Given the description of an element on the screen output the (x, y) to click on. 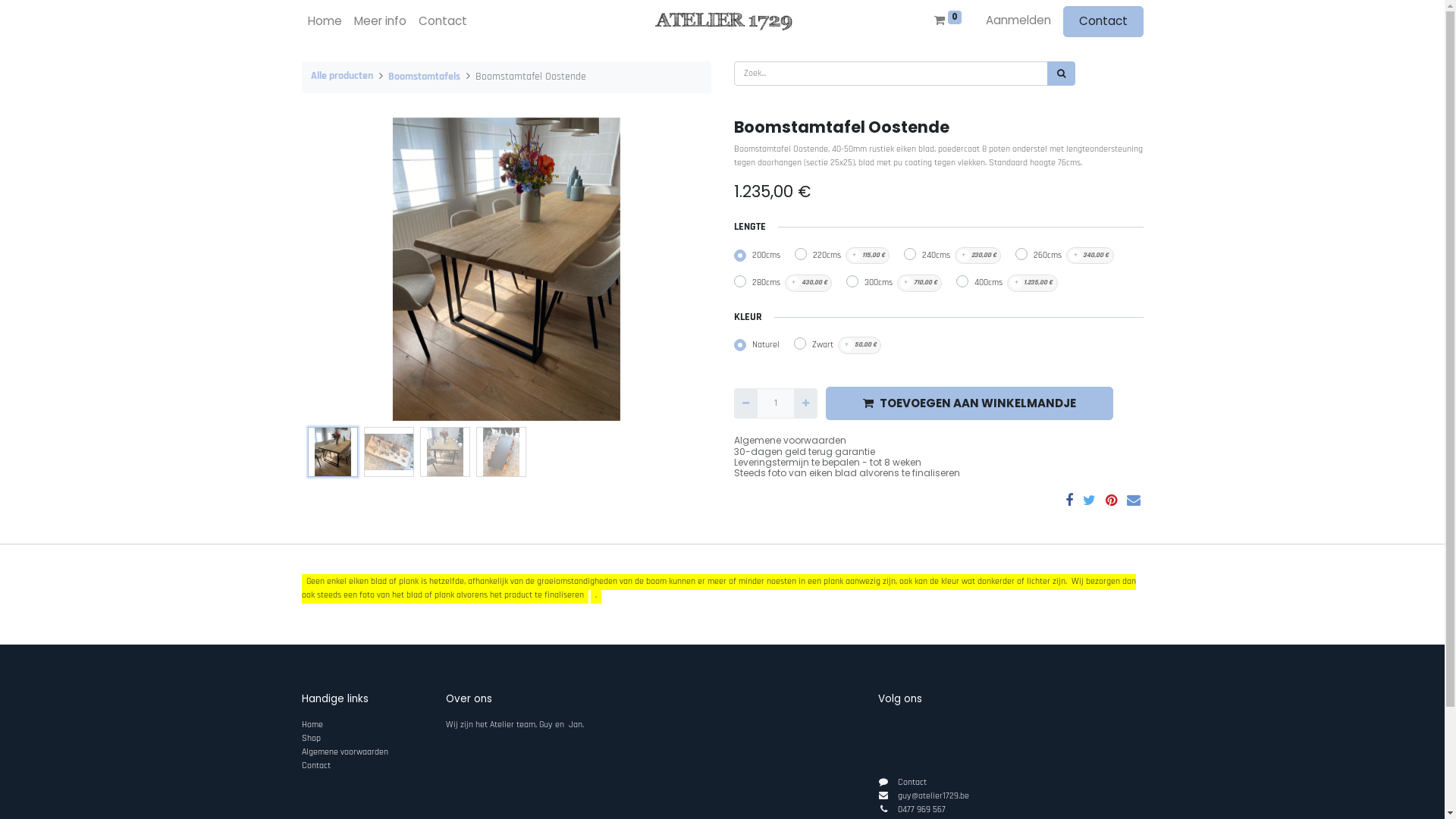
Contact Element type: text (315, 765)
Boomstamtafels Element type: text (424, 76)
Algemene voorwaarden Element type: text (790, 439)
Shop Element type: text (310, 737)
Zoek Element type: hover (1060, 73)
Aanmelden Element type: text (1018, 20)
g Element type: text (899, 795)
Contact Element type: text (442, 21)
Algemene voorwaarden Element type: text (344, 751)
Contact Element type: text (1103, 21)
Home Element type: text (312, 724)
Meer info Element type: text (379, 21)
Contact Element type: text (911, 781)
Alle producten Element type: text (341, 75)
Home Element type: text (324, 21)
Atelier 1729 Element type: hover (721, 21)
0477 969 567 Element type: text (921, 809)
0 Element type: text (947, 20)
TOEVOEGEN AAN WINKELMANDJE Element type: text (969, 403)
